Given the description of an element on the screen output the (x, y) to click on. 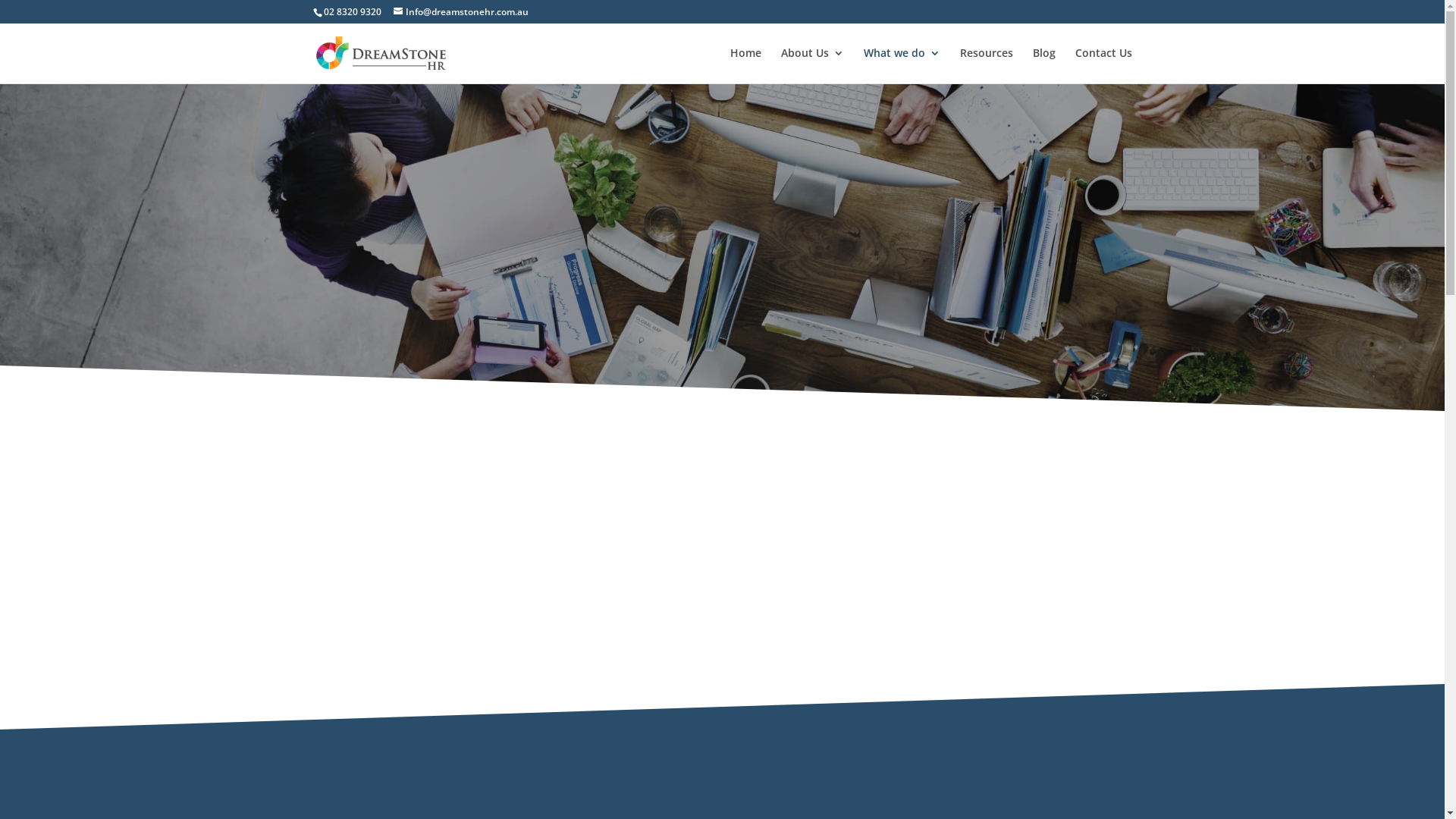
What we do Element type: text (900, 65)
Contact Us Element type: text (1103, 65)
Home Element type: text (744, 65)
Resources Element type: text (986, 65)
Info@dreamstonehr.com.au Element type: text (459, 11)
About Us Element type: text (812, 65)
Blog Element type: text (1043, 65)
